Given the description of an element on the screen output the (x, y) to click on. 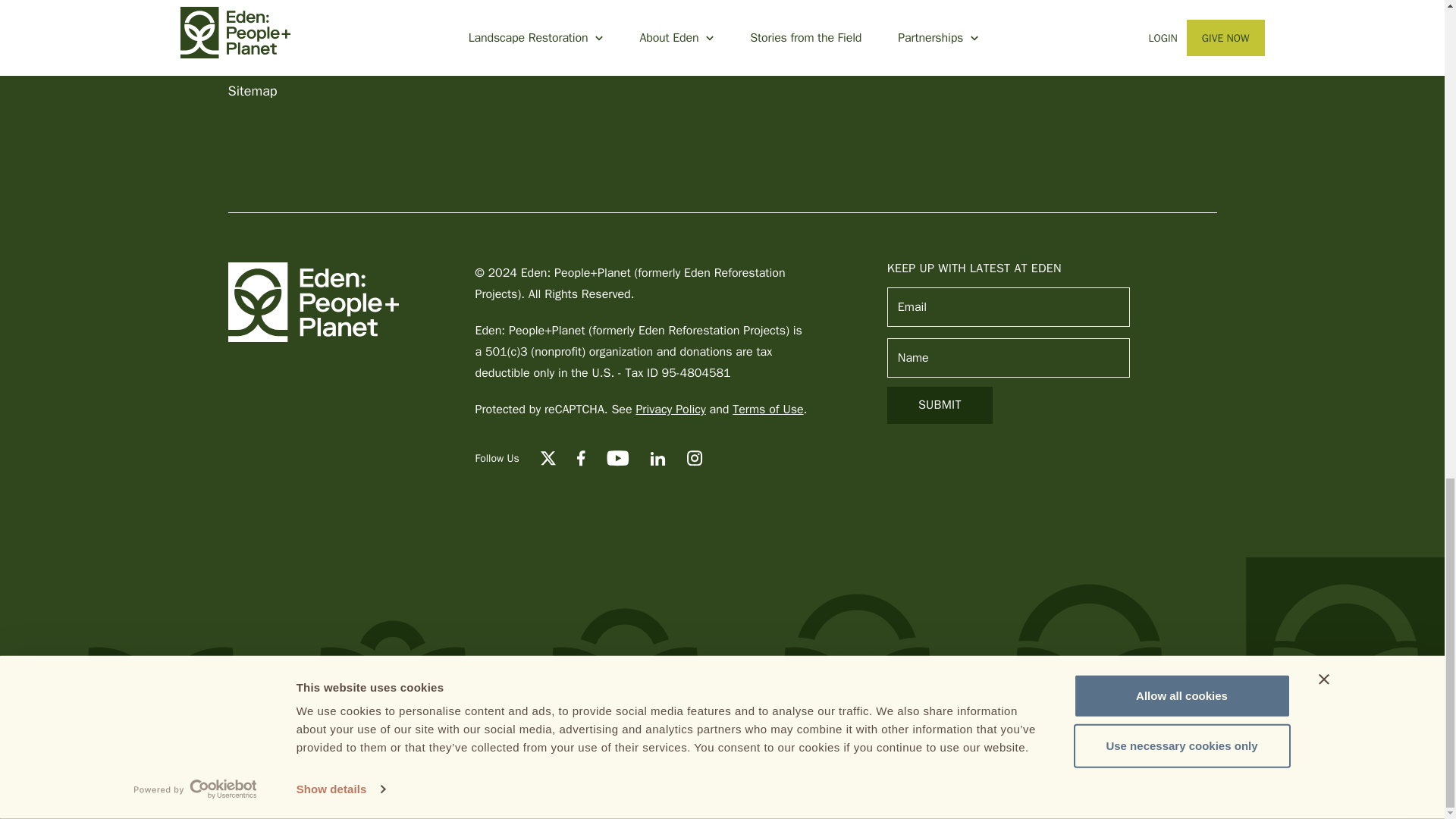
Email Address (1007, 306)
Name (1007, 357)
Submit (939, 405)
